Given the description of an element on the screen output the (x, y) to click on. 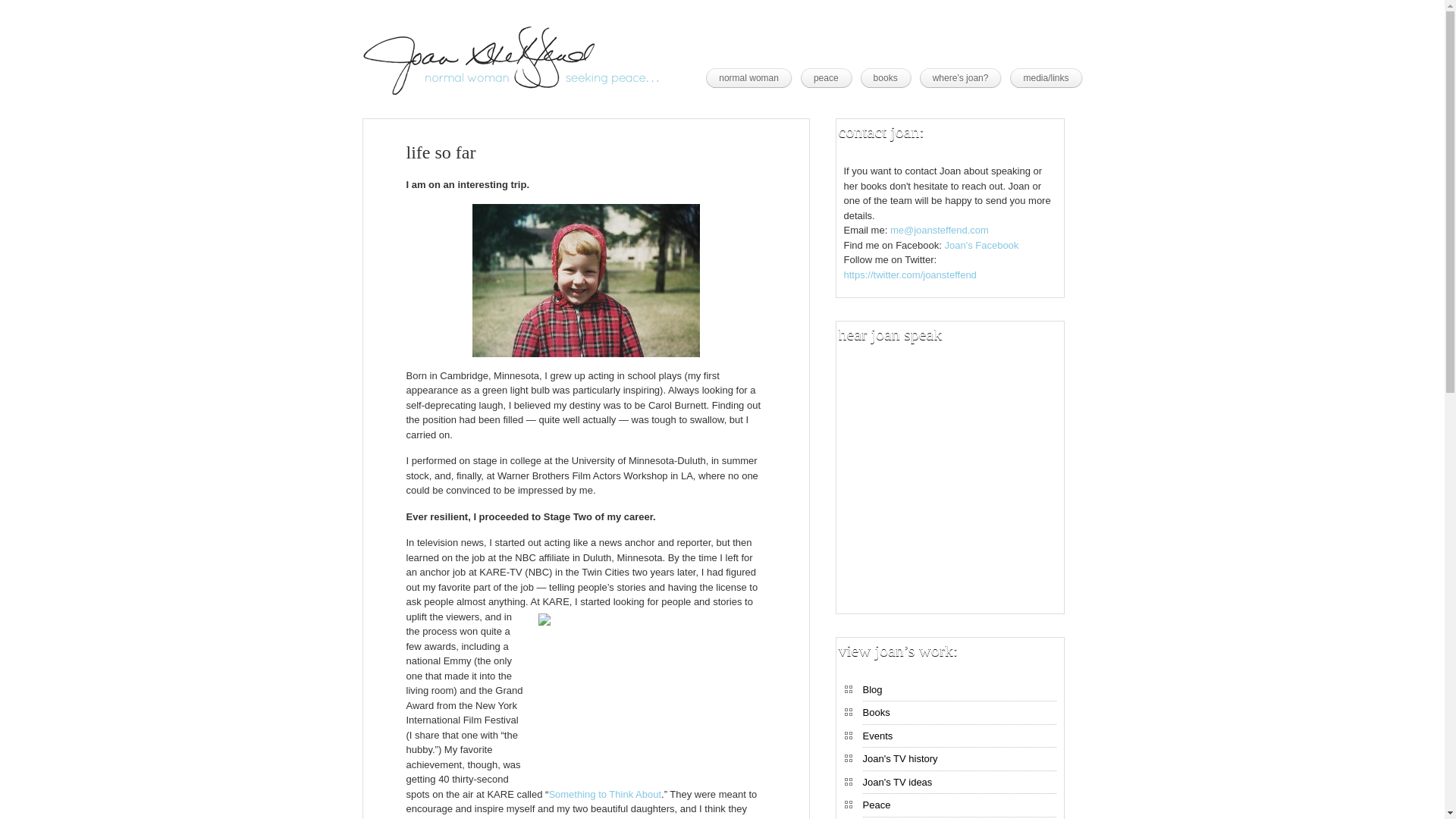
Joan's TV ideas (960, 784)
Peace (960, 807)
Books (960, 714)
normal woman (752, 77)
Events (960, 737)
peace (829, 77)
Something to Think About (604, 794)
Joan's Facebook (980, 244)
Joan's TV history (960, 761)
books (889, 77)
